Given the description of an element on the screen output the (x, y) to click on. 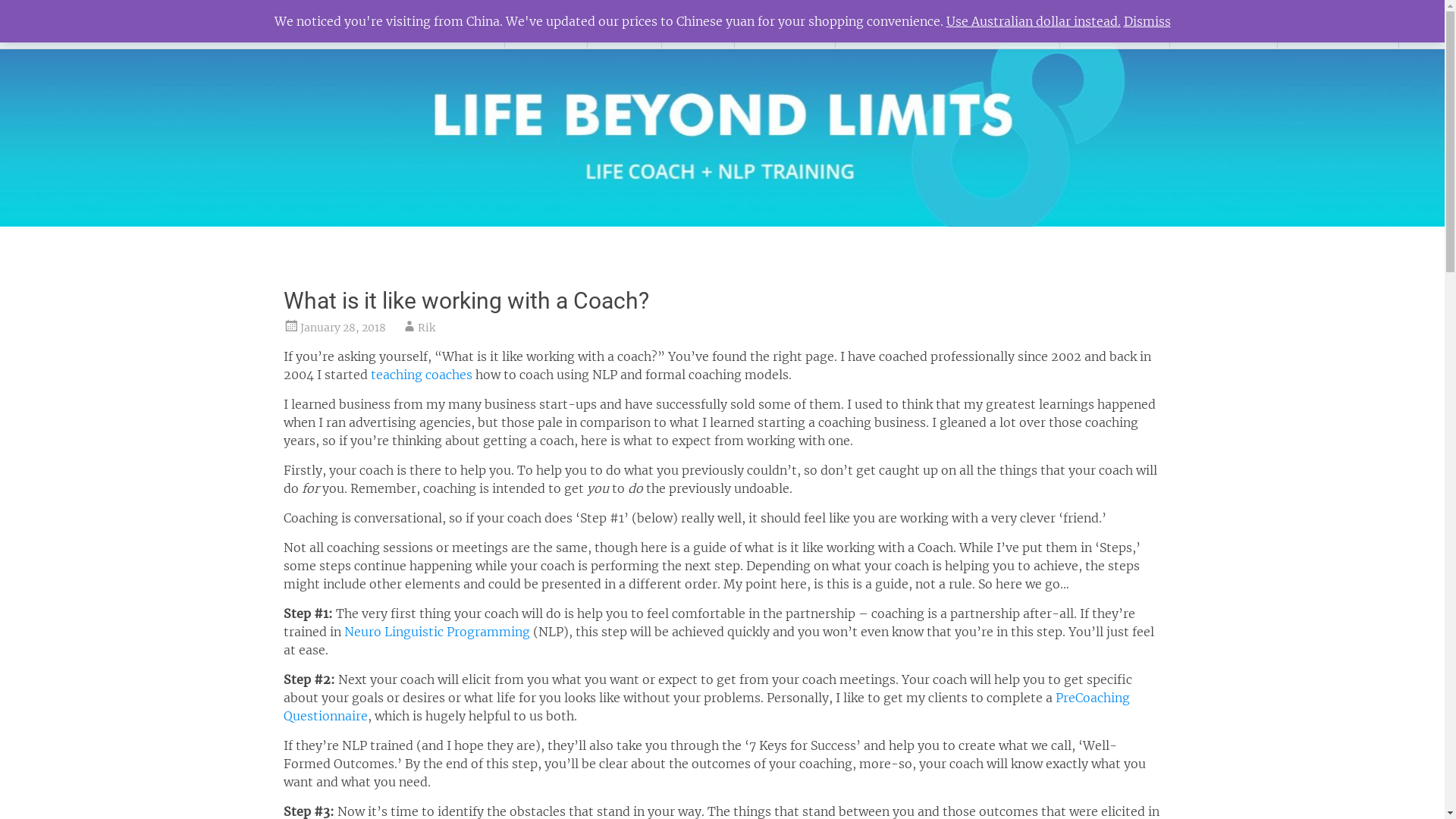
Free Life Coach + NLP Training Element type: text (947, 24)
COACHING Element type: text (1223, 24)
LIFE BEYOND LIMITS Element type: text (145, 24)
TRAINING Element type: text (784, 24)
Use Australian dollar instead. Element type: text (1033, 20)
Dismiss Element type: text (1146, 20)
teaching coaches Element type: text (420, 374)
PreCoaching Questionnaire Element type: text (706, 706)
FREE GIFTS Element type: text (1114, 24)
CONTACT US Element type: text (1337, 24)
Neuro Linguistic Programming Element type: text (437, 631)
CART Element type: text (698, 24)
Rik Element type: text (425, 327)
SHOP Element type: text (624, 24)
January 28, 2018 Element type: text (342, 327)
ABOUT Element type: text (545, 24)
